Given the description of an element on the screen output the (x, y) to click on. 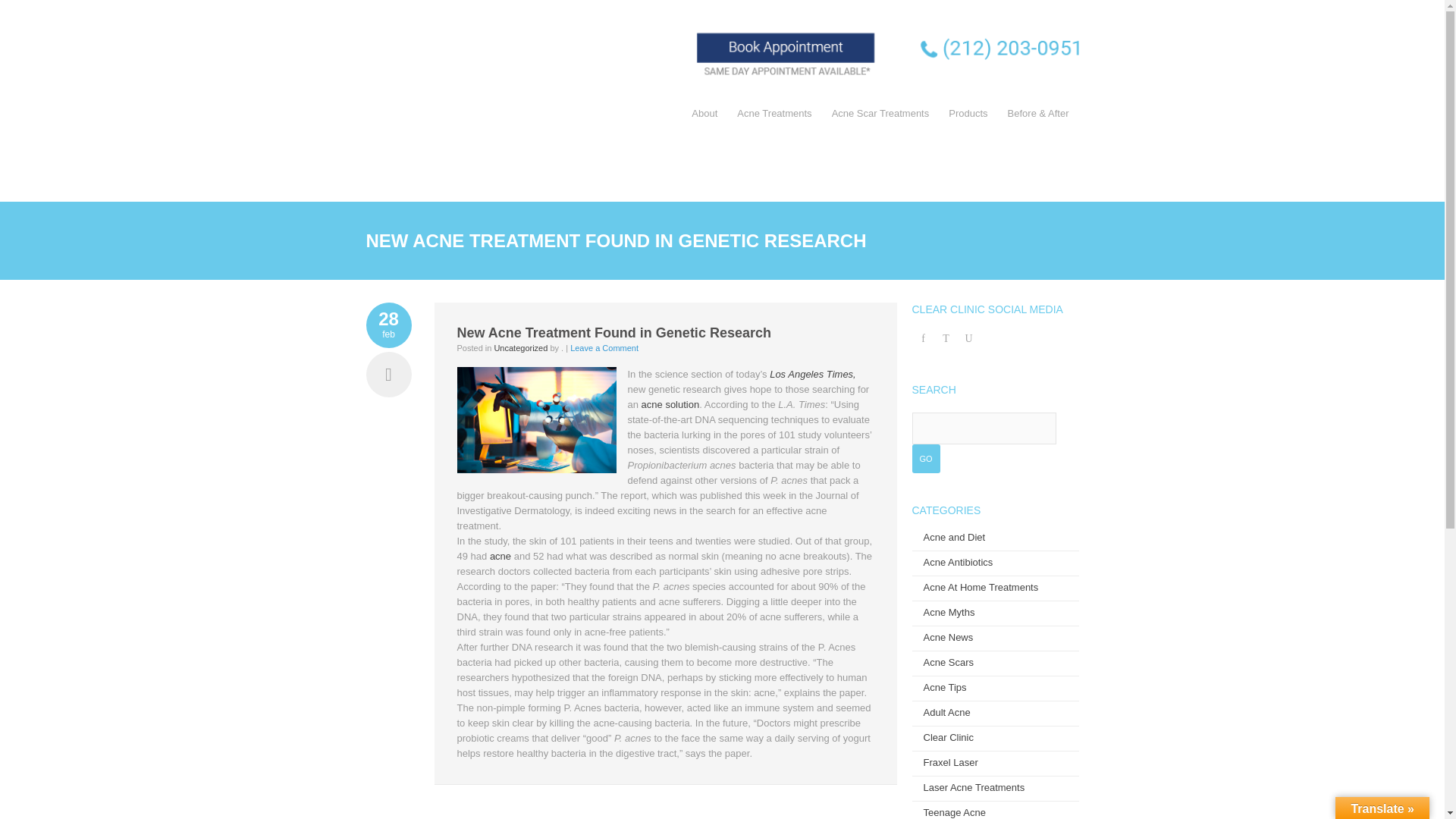
Acne Tips (944, 686)
acne solution (671, 404)
GO (925, 458)
New Acne Treatment Found in Genetic Research (613, 332)
Acne and Diet (954, 536)
Teenage Acne (954, 812)
About (703, 113)
Permalink to New Acne Treatment Found in Genetic Research (613, 332)
Adult Acne (947, 712)
Los Angeles Times, (813, 374)
